Given the description of an element on the screen output the (x, y) to click on. 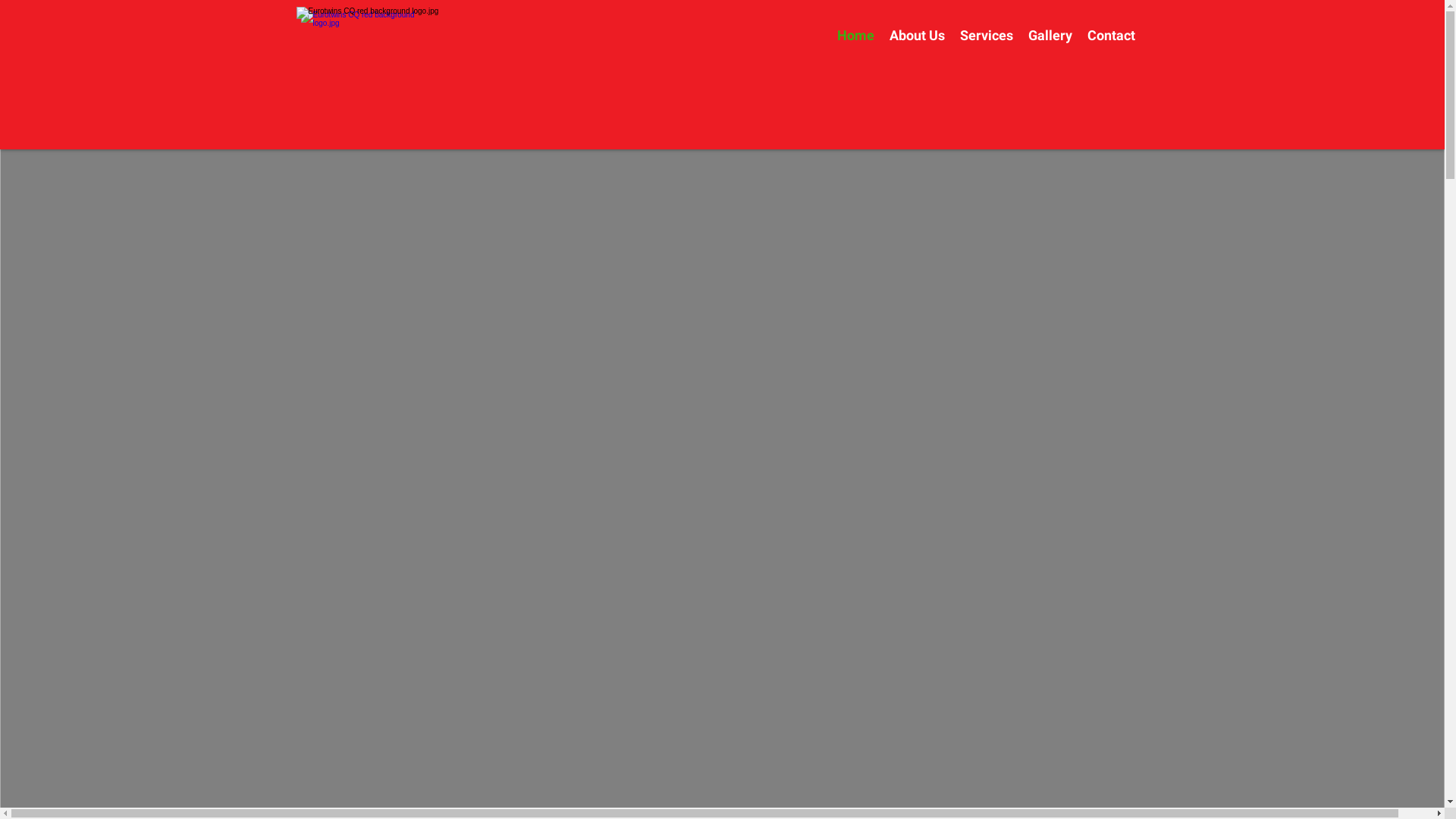
About Us Element type: text (916, 35)
Gallery Element type: text (1049, 35)
Contact Element type: text (1110, 35)
Home Element type: text (855, 35)
Services Element type: text (986, 35)
